Given the description of an element on the screen output the (x, y) to click on. 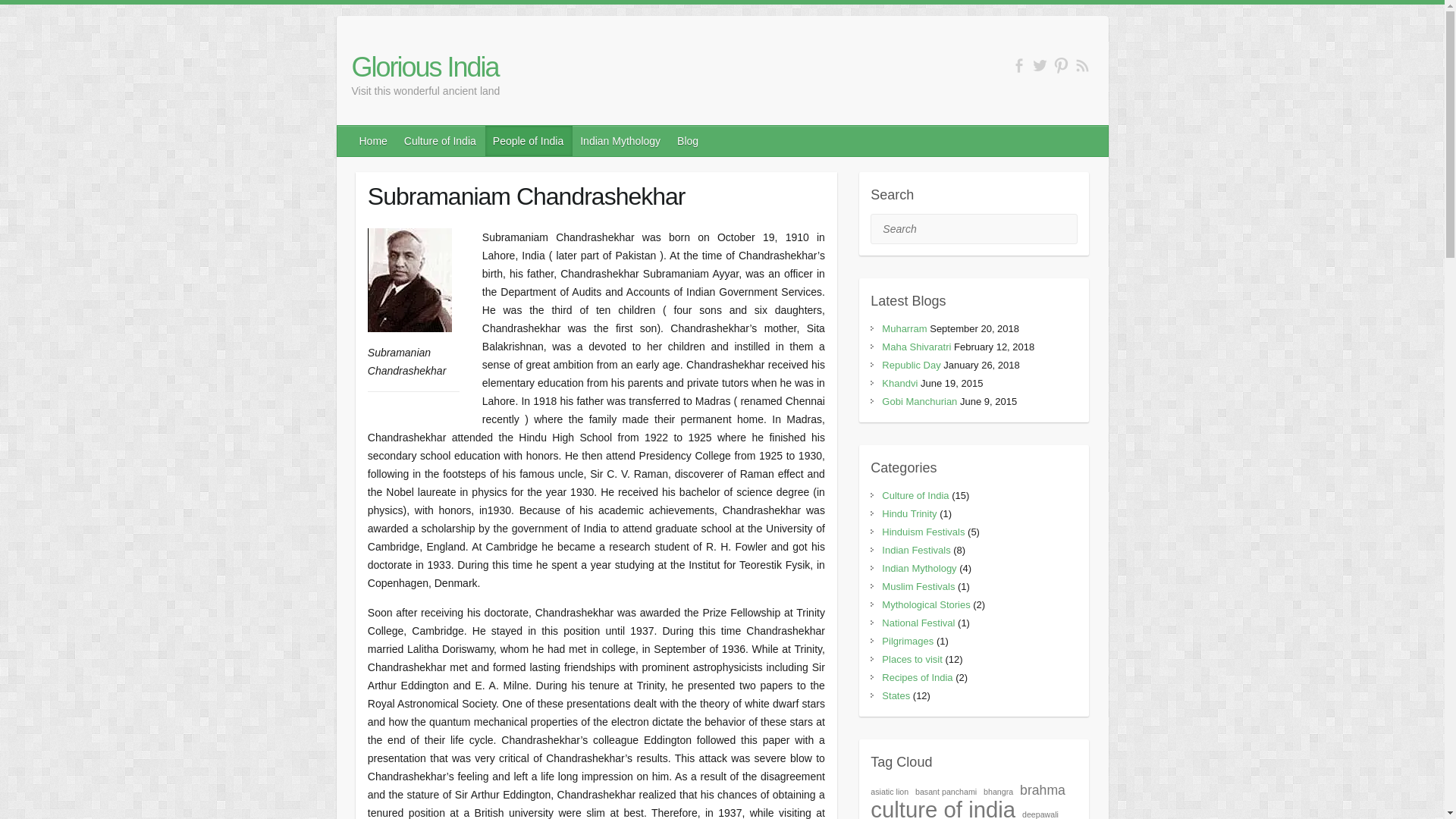
Glorious India on Twitter (1039, 65)
Glorious India (426, 67)
Glorious India (426, 67)
Home (374, 141)
Glorious India on RSS (1082, 65)
Glorious India on Pinterest (1061, 65)
Culture of India (440, 141)
Home (374, 141)
Glorious India on Facebook (1019, 65)
